Given the description of an element on the screen output the (x, y) to click on. 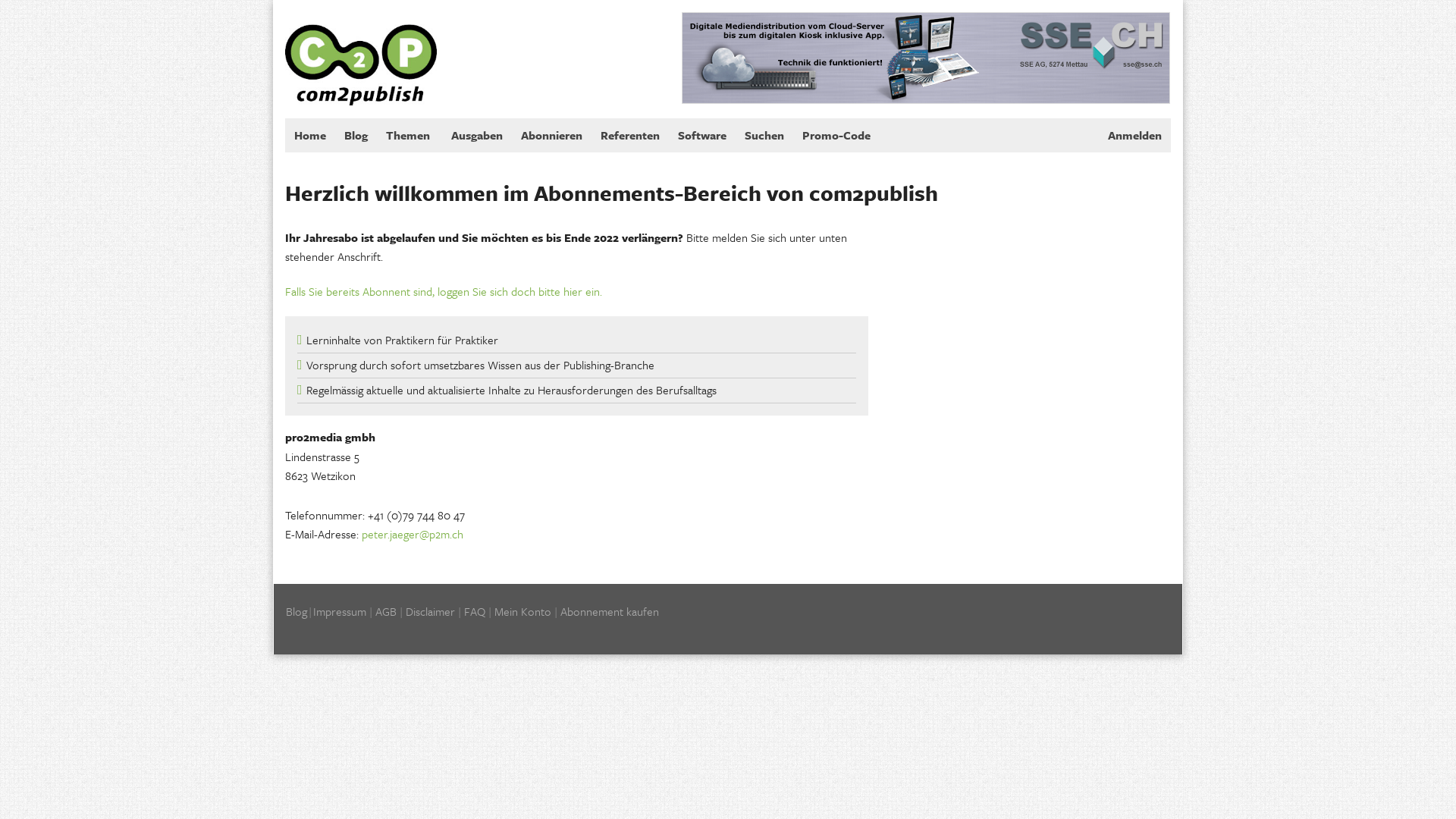
Software Element type: text (701, 135)
com2publish Startseite Element type: hover (360, 53)
Impressum Element type: text (339, 610)
Suchen Element type: text (764, 135)
peter.jaeger@p2m.ch Element type: text (412, 533)
Disclaimer Element type: text (430, 610)
Mein Konto Element type: text (522, 610)
FAQ Element type: text (474, 610)
Referenten Element type: text (629, 135)
Blog Element type: text (355, 135)
Themen Element type: text (409, 135)
Abonnieren Element type: text (551, 135)
AGB Element type: text (385, 610)
Ausgaben Element type: text (476, 135)
Promo-Code Element type: text (836, 135)
SSE AG, Daniel Scheuber Element type: hover (925, 57)
com2publish Startseite Element type: hover (360, 51)
Anmelden Element type: text (1134, 135)
Blog Element type: text (296, 610)
Abonnement kaufen Element type: text (609, 610)
Direkt zum Inhalt Element type: text (40, 0)
Home Element type: text (310, 135)
